Given the description of an element on the screen output the (x, y) to click on. 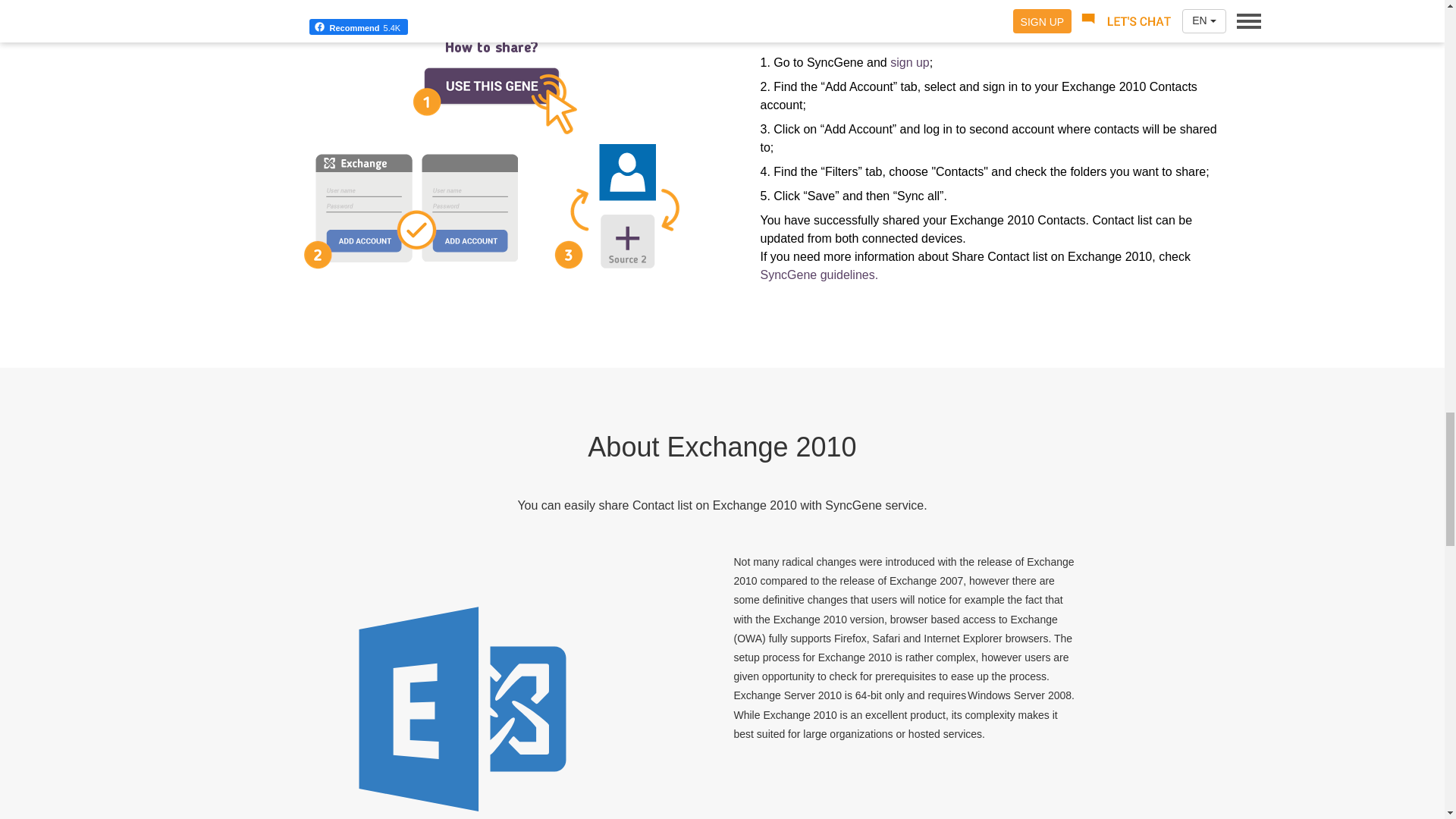
How to Share Contact list on Exchange 2010? (490, 153)
sign up (909, 62)
SyncGene guidelines. (818, 274)
